Given the description of an element on the screen output the (x, y) to click on. 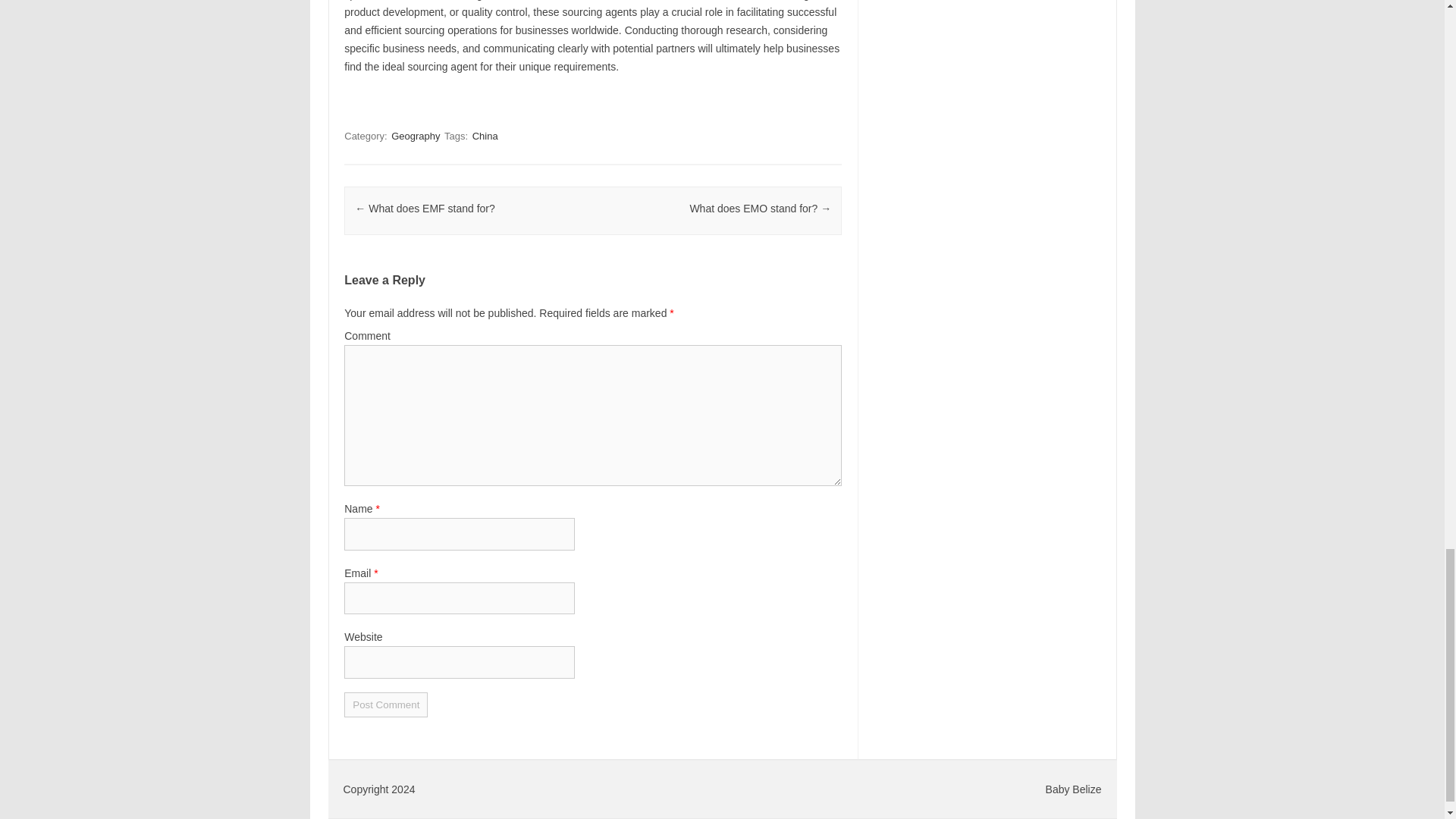
Geography (415, 135)
China (484, 135)
Post Comment (385, 704)
Post Comment (385, 704)
